Given the description of an element on the screen output the (x, y) to click on. 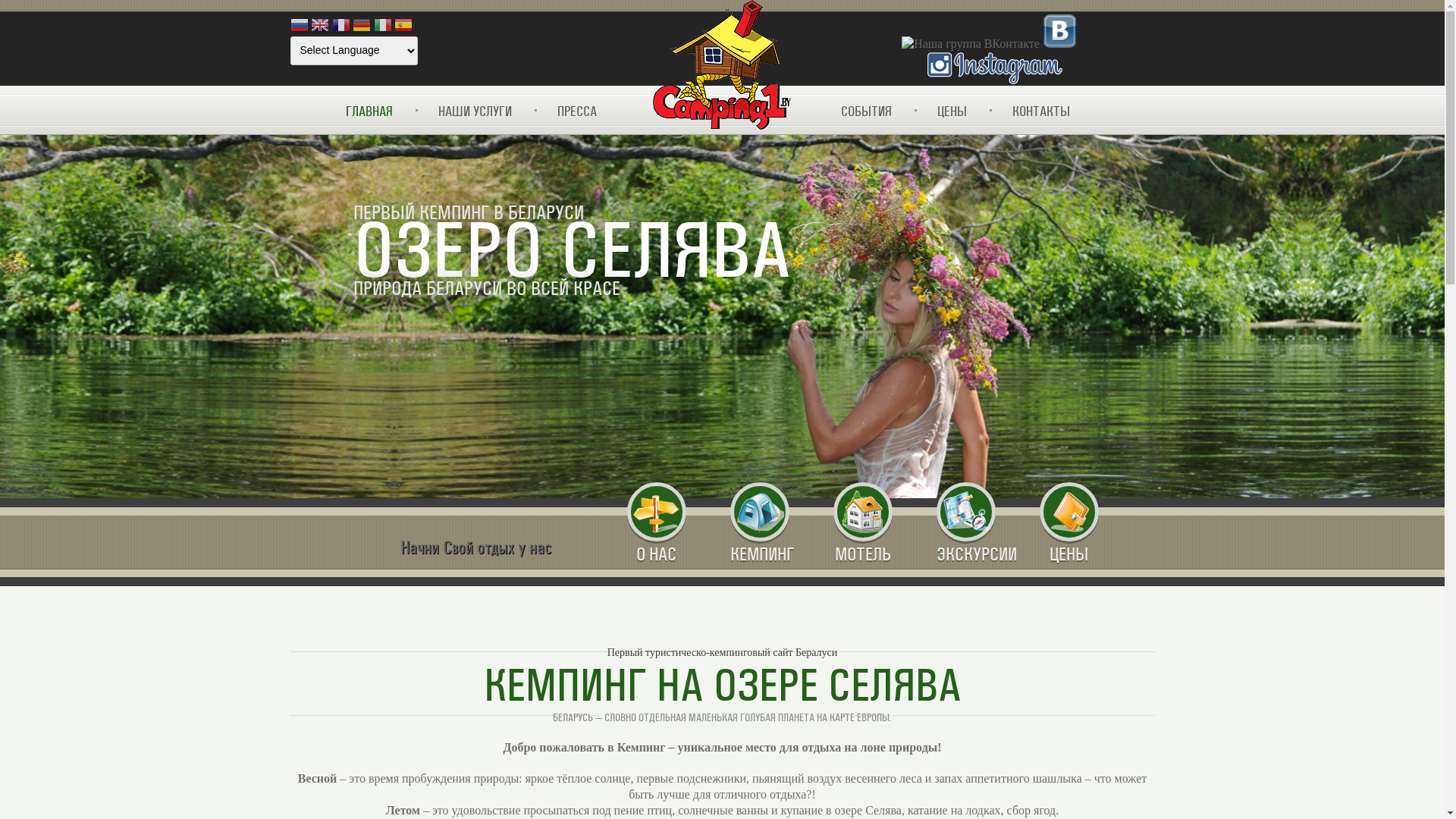
English Element type: hover (319, 26)
Italian Element type: hover (382, 26)
Logo Element type: text (721, 65)
German Element type: hover (361, 26)
Spanish Element type: hover (403, 26)
Russian Element type: hover (298, 26)
French Element type: hover (341, 26)
